Given the description of an element on the screen output the (x, y) to click on. 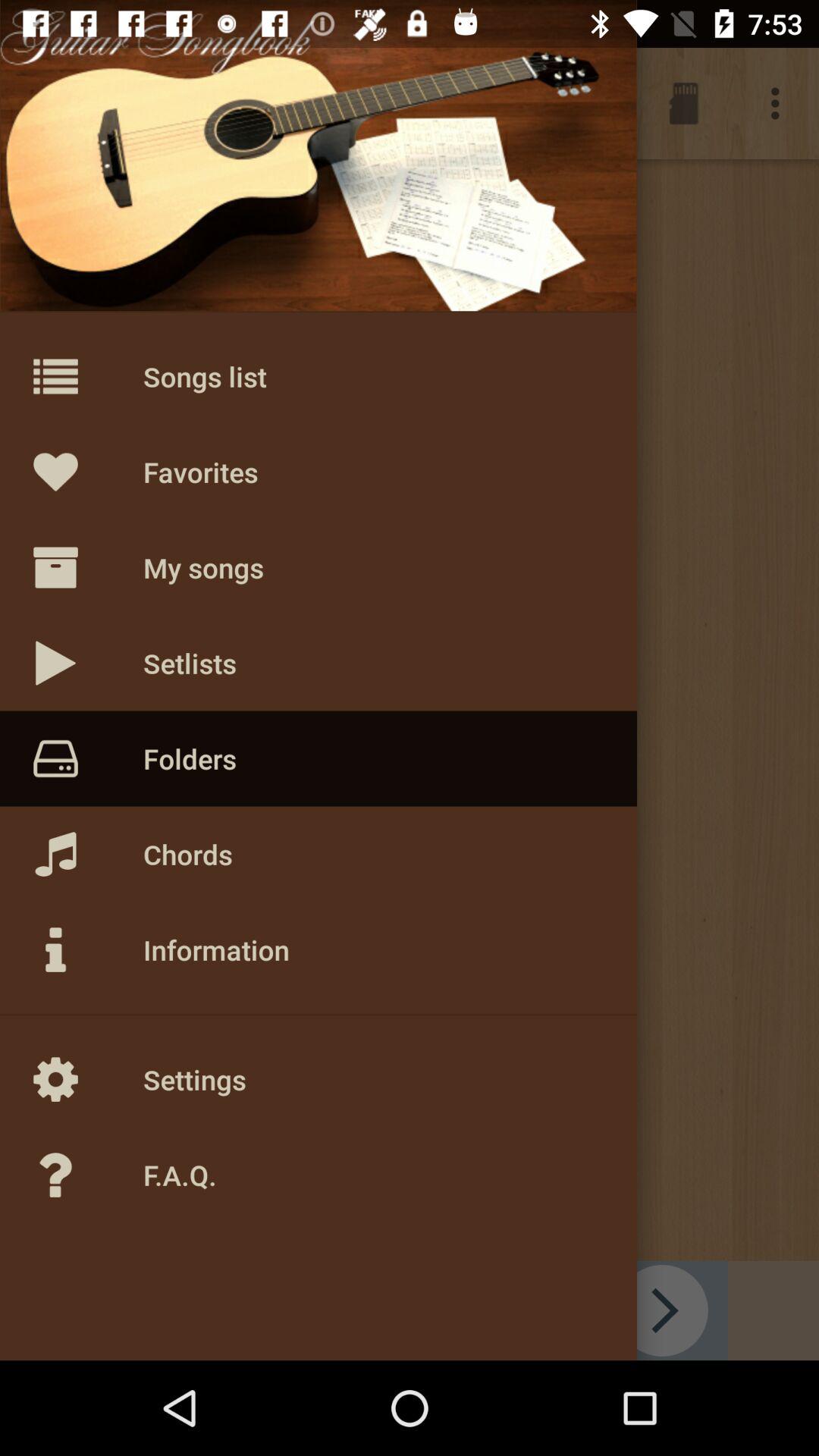
select the folders (55, 103)
select the last button in the page (87, 1174)
click on the icon above setting (87, 949)
click on more options icon (779, 103)
